Given the description of an element on the screen output the (x, y) to click on. 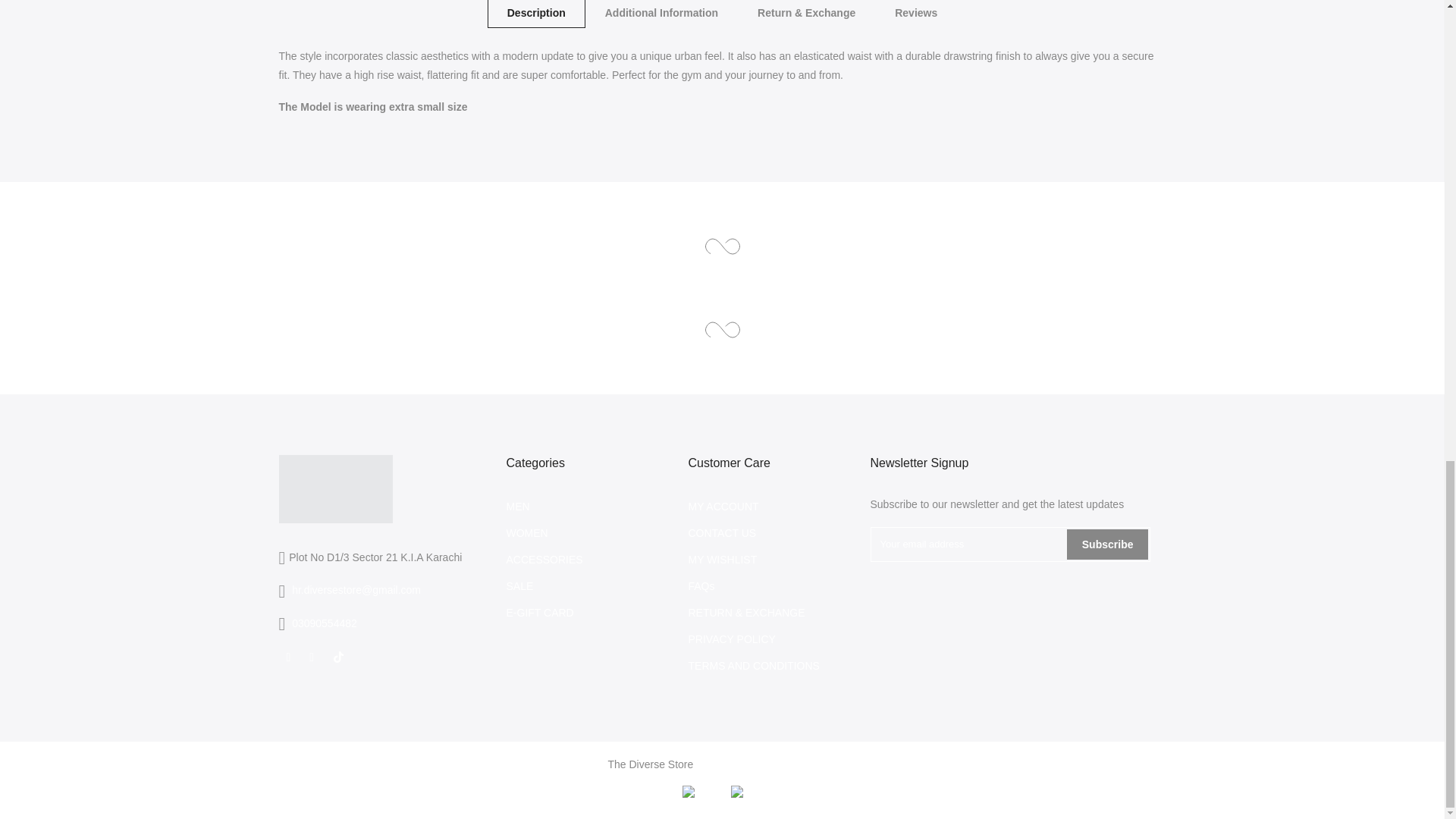
Description (536, 13)
WOMEN (527, 532)
Reviews (915, 13)
03090554482 (324, 623)
MEN (517, 506)
Additional Information (661, 13)
